Given the description of an element on the screen output the (x, y) to click on. 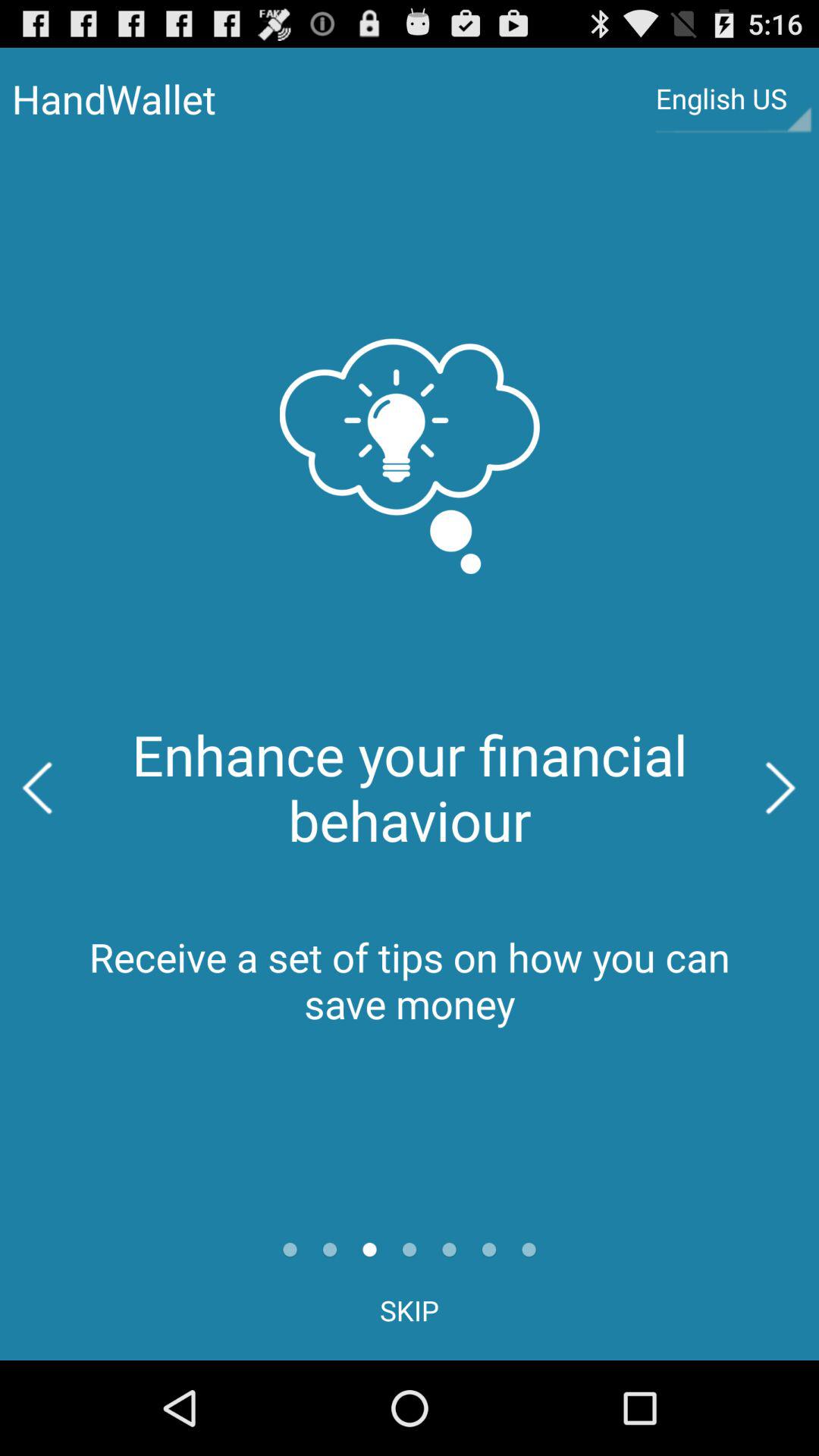
choose the button at the top right corner (733, 98)
